Given the description of an element on the screen output the (x, y) to click on. 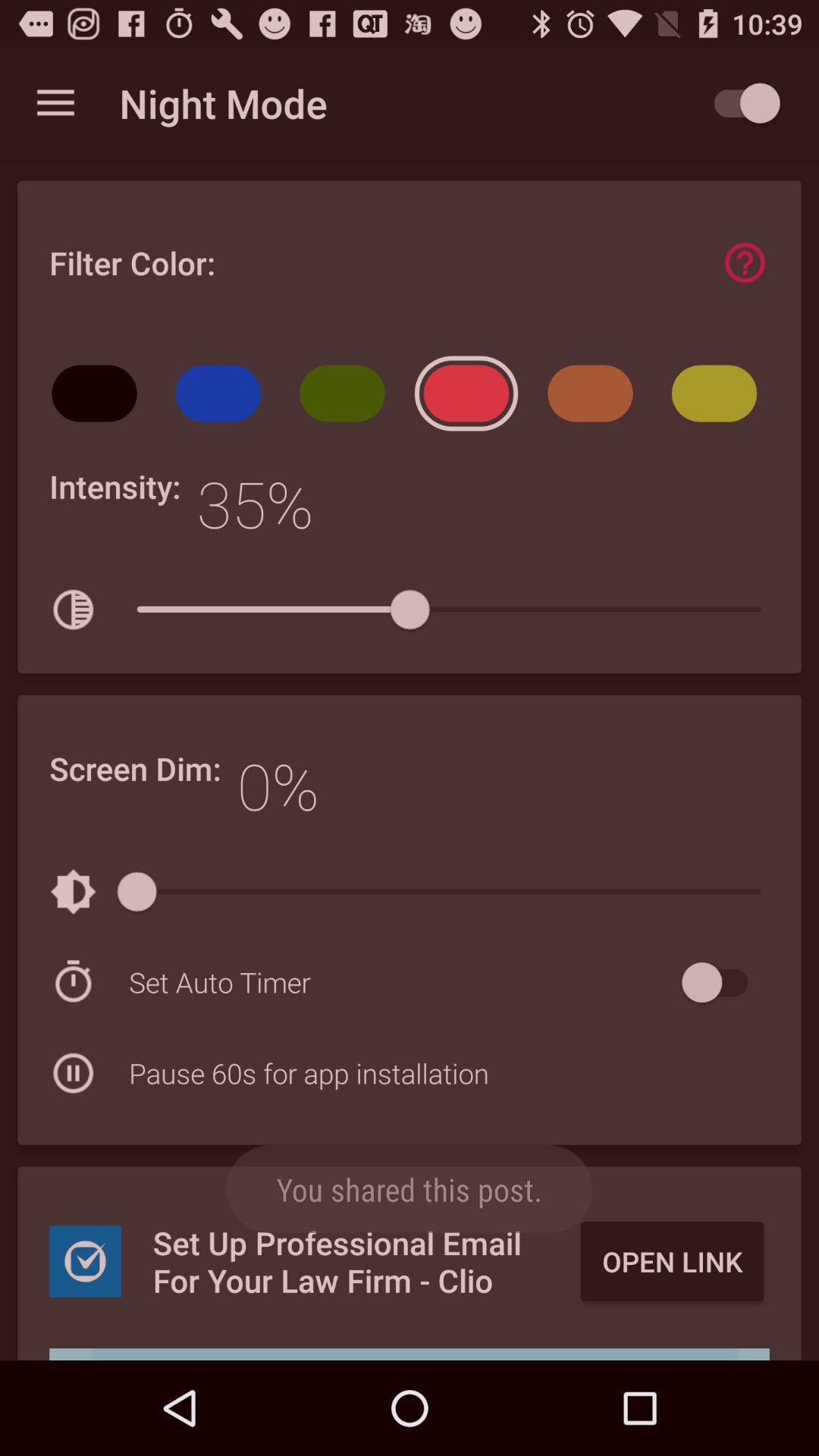
question symbol (744, 262)
